Given the description of an element on the screen output the (x, y) to click on. 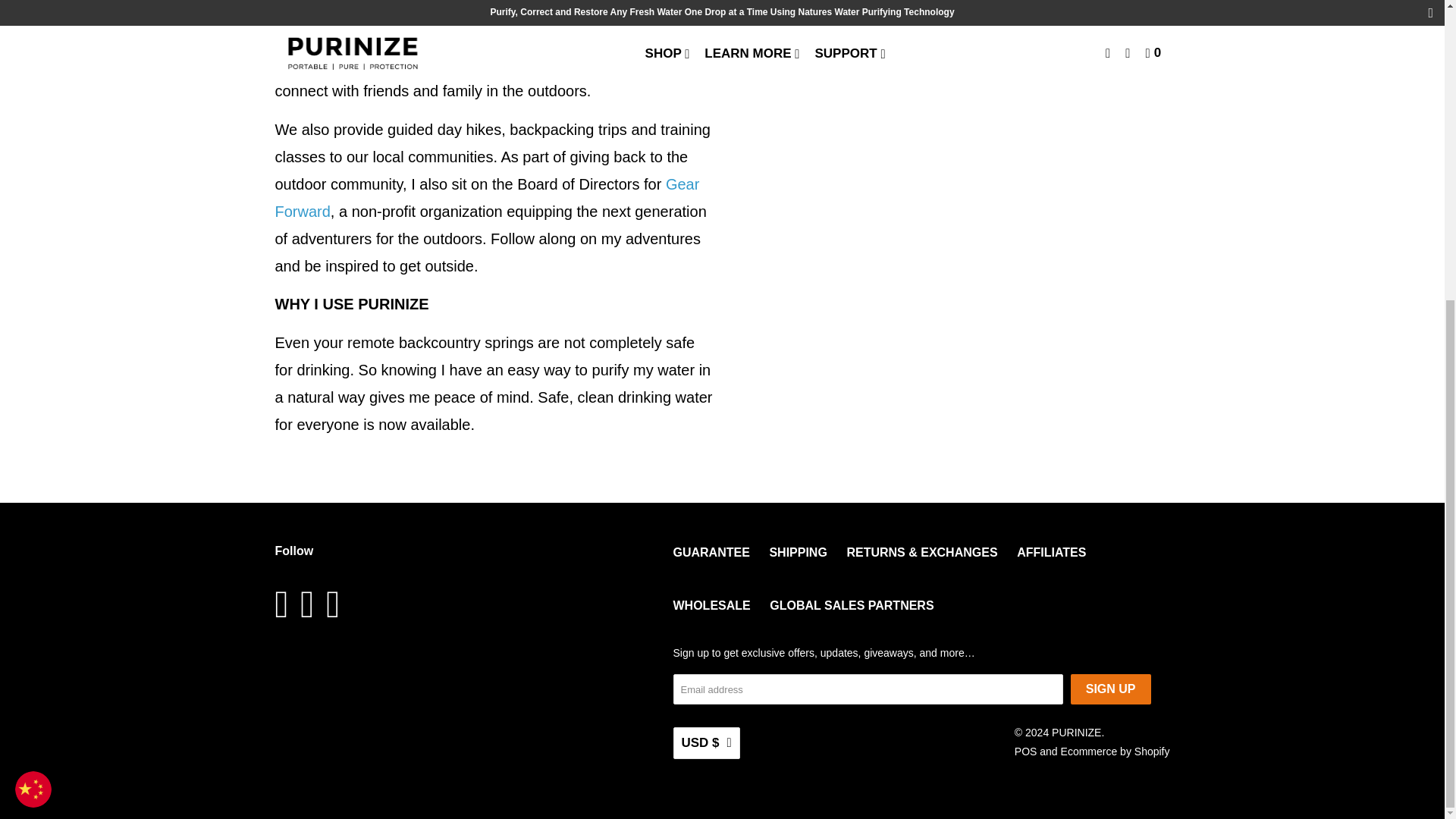
Sign Up (1110, 689)
Gear Forward (486, 198)
Hike By Faith (375, 36)
